Given the description of an element on the screen output the (x, y) to click on. 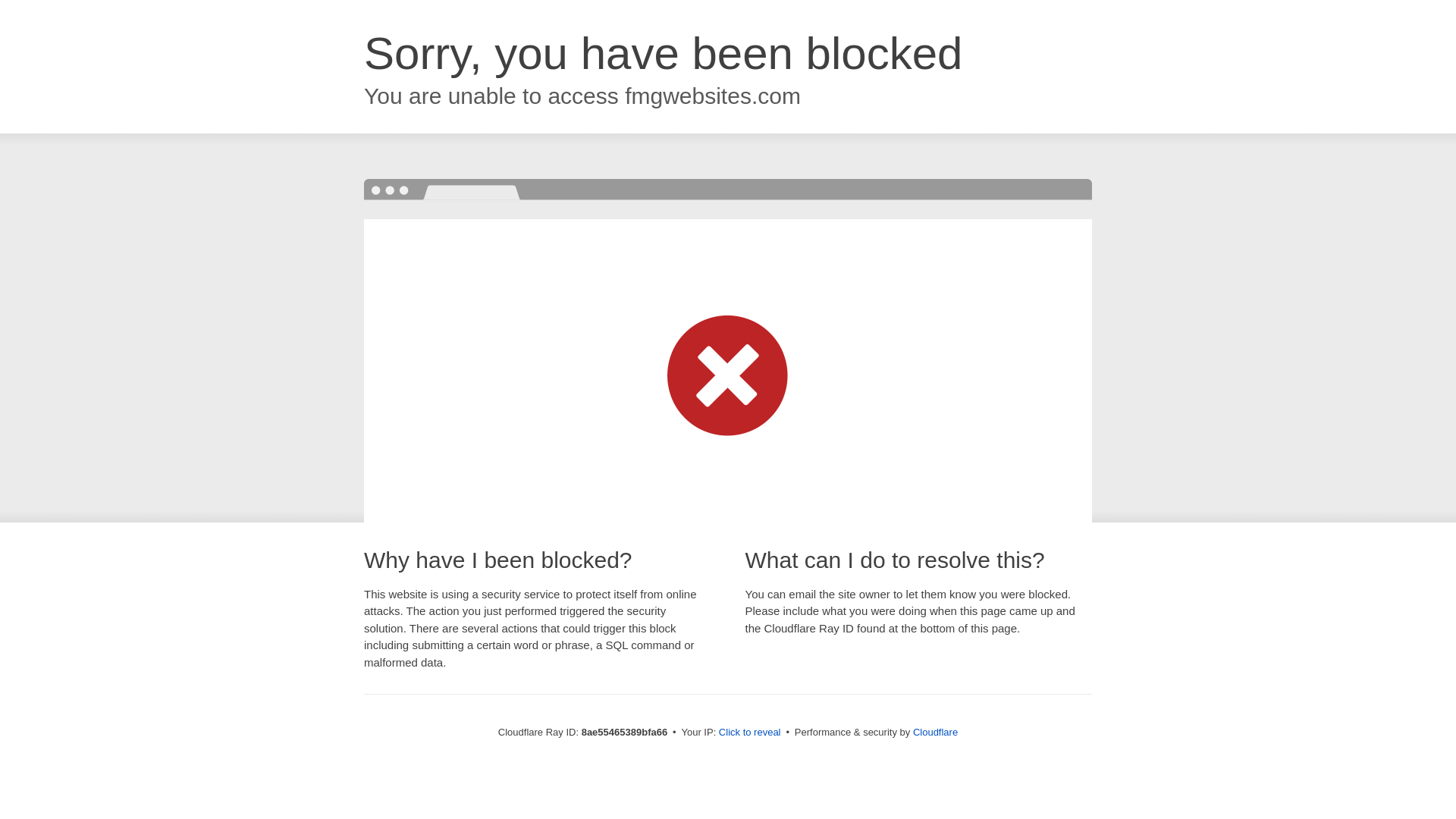
Click to reveal (749, 732)
Cloudflare (935, 731)
